Given the description of an element on the screen output the (x, y) to click on. 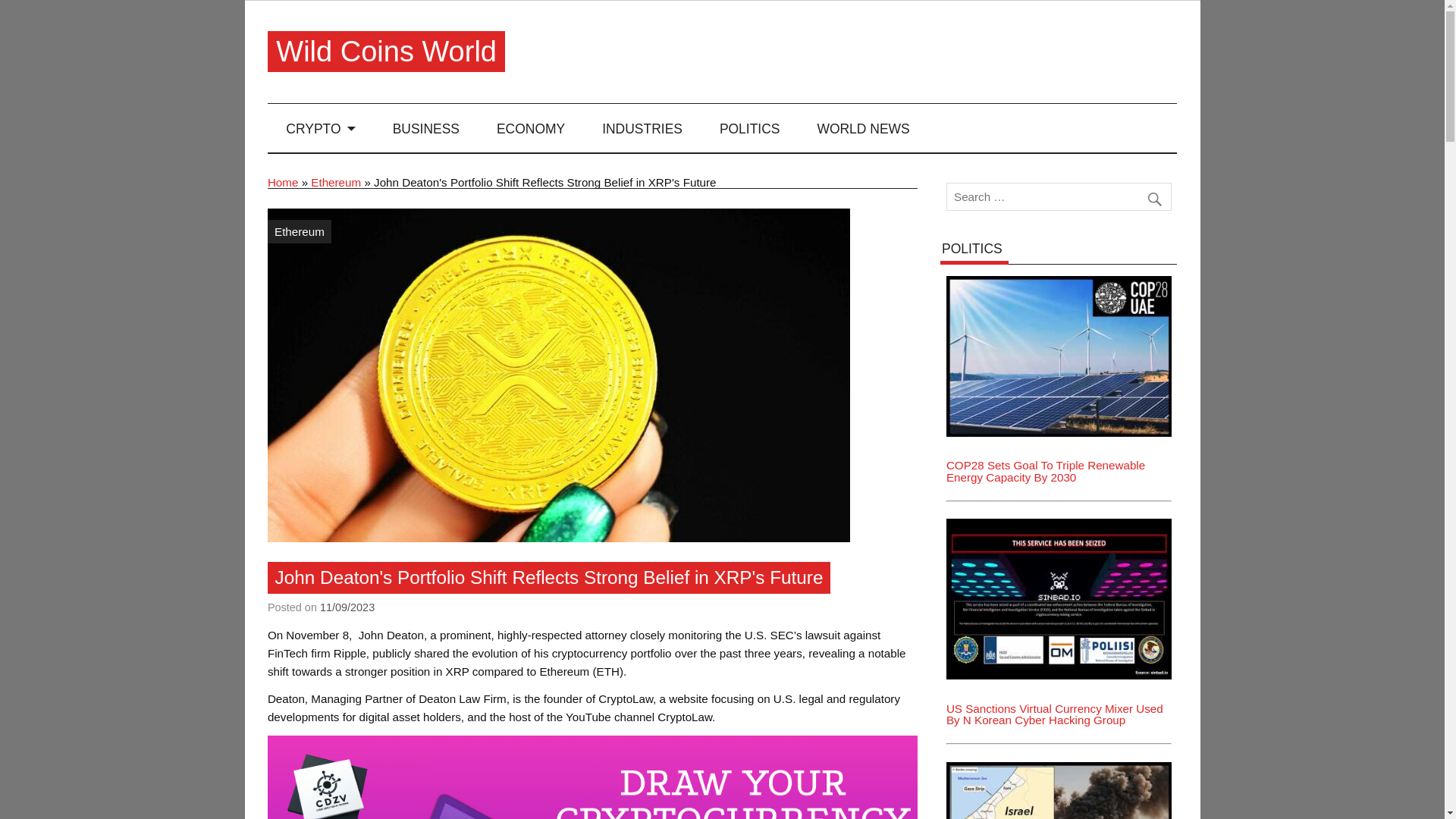
Home (282, 182)
INDUSTRIES (642, 128)
BUSINESS (425, 128)
Ethereum (299, 231)
9:39 am (347, 607)
Wild Coins World (386, 51)
COP28 Sets Goal To Triple Renewable Energy Capacity By 2030 (1059, 356)
POLITICS (748, 128)
CRYPTO (320, 128)
COP28 Sets Goal To Triple Renewable Energy Capacity By 2030 (1045, 470)
COP28 Sets Goal To Triple Renewable Energy Capacity By 2030 (1059, 281)
WORLD NEWS (862, 128)
Ethereum (336, 182)
